Given the description of an element on the screen output the (x, y) to click on. 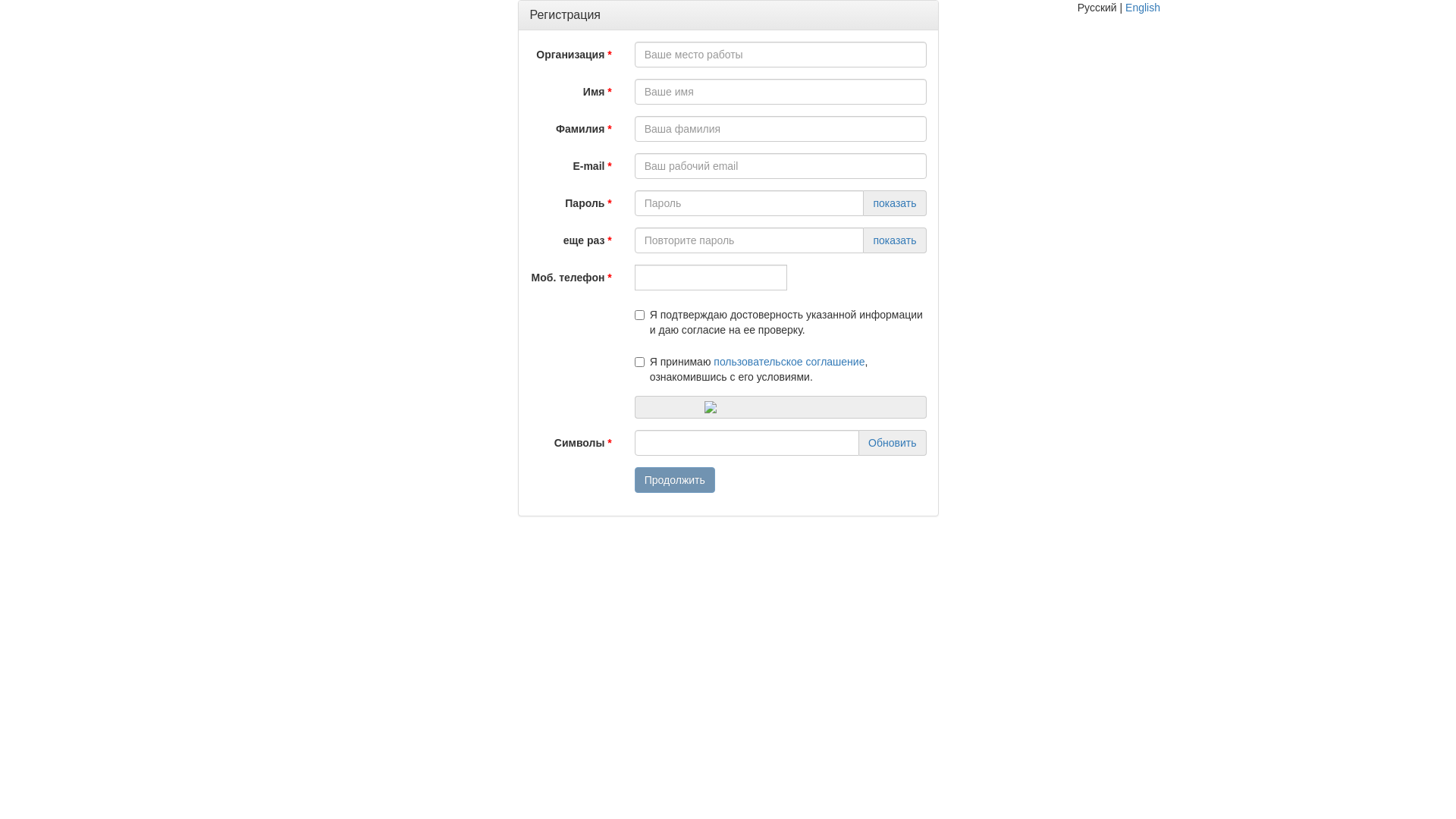
English Element type: text (1142, 7)
